Given the description of an element on the screen output the (x, y) to click on. 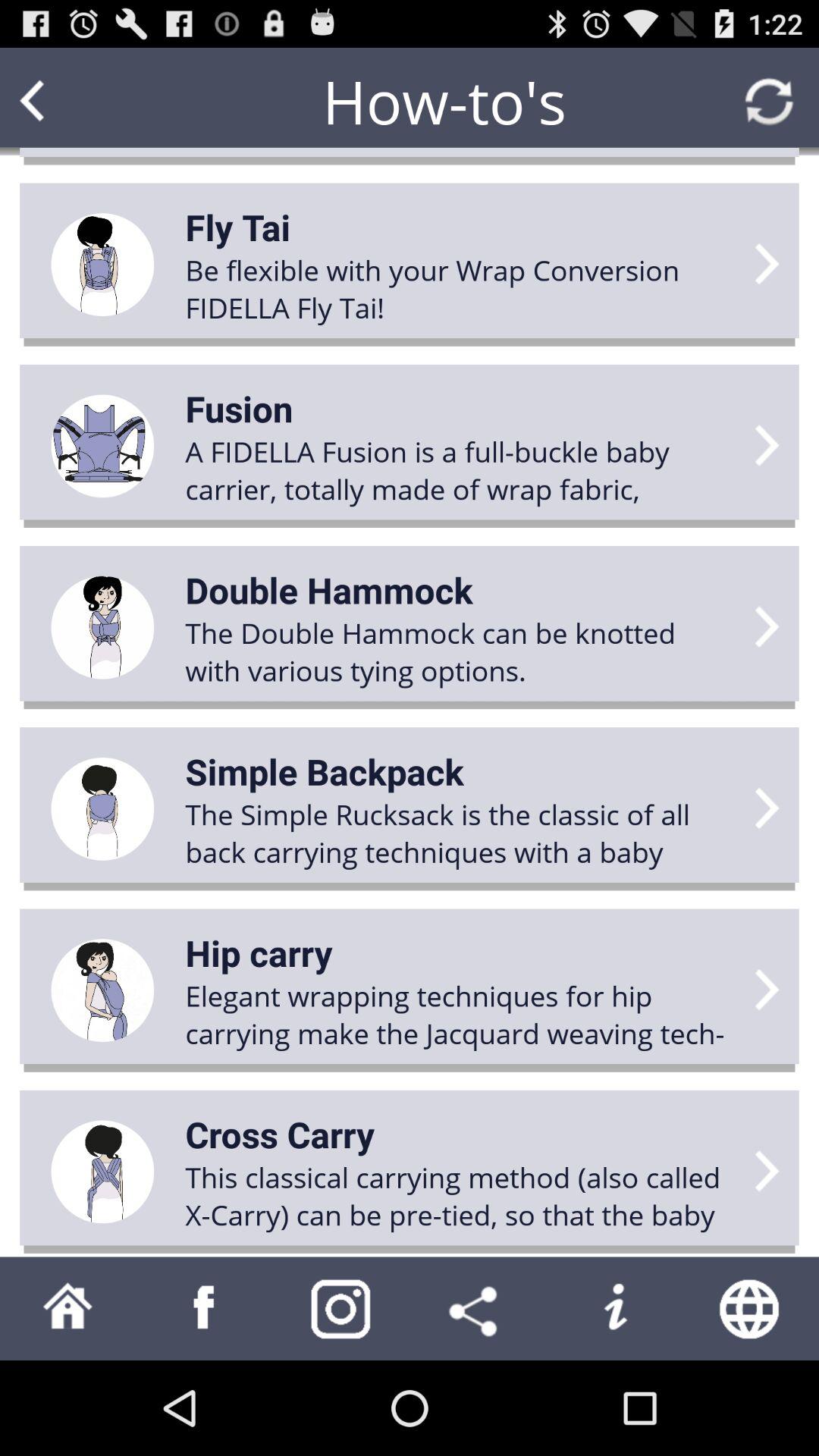
turn on item below elegant wrapping techniques app (279, 1134)
